Given the description of an element on the screen output the (x, y) to click on. 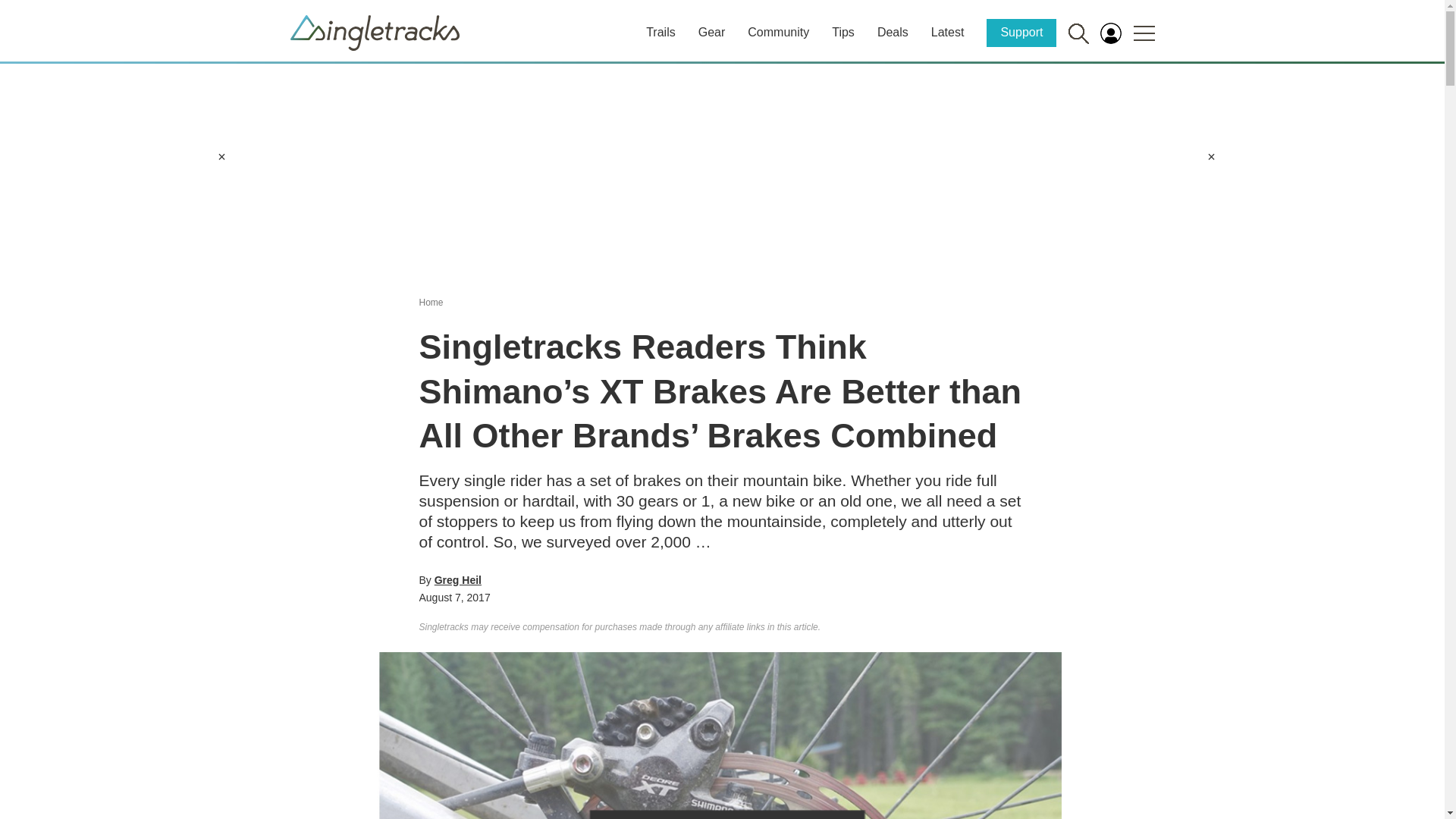
Gear (711, 31)
View all posts by Greg Heil (457, 580)
3rd party ad content (721, 169)
Community (778, 31)
close (1211, 156)
Support (1022, 32)
Tips (842, 31)
close (221, 156)
Deals (892, 31)
Latest (947, 31)
Trails (660, 31)
